Given the description of an element on the screen output the (x, y) to click on. 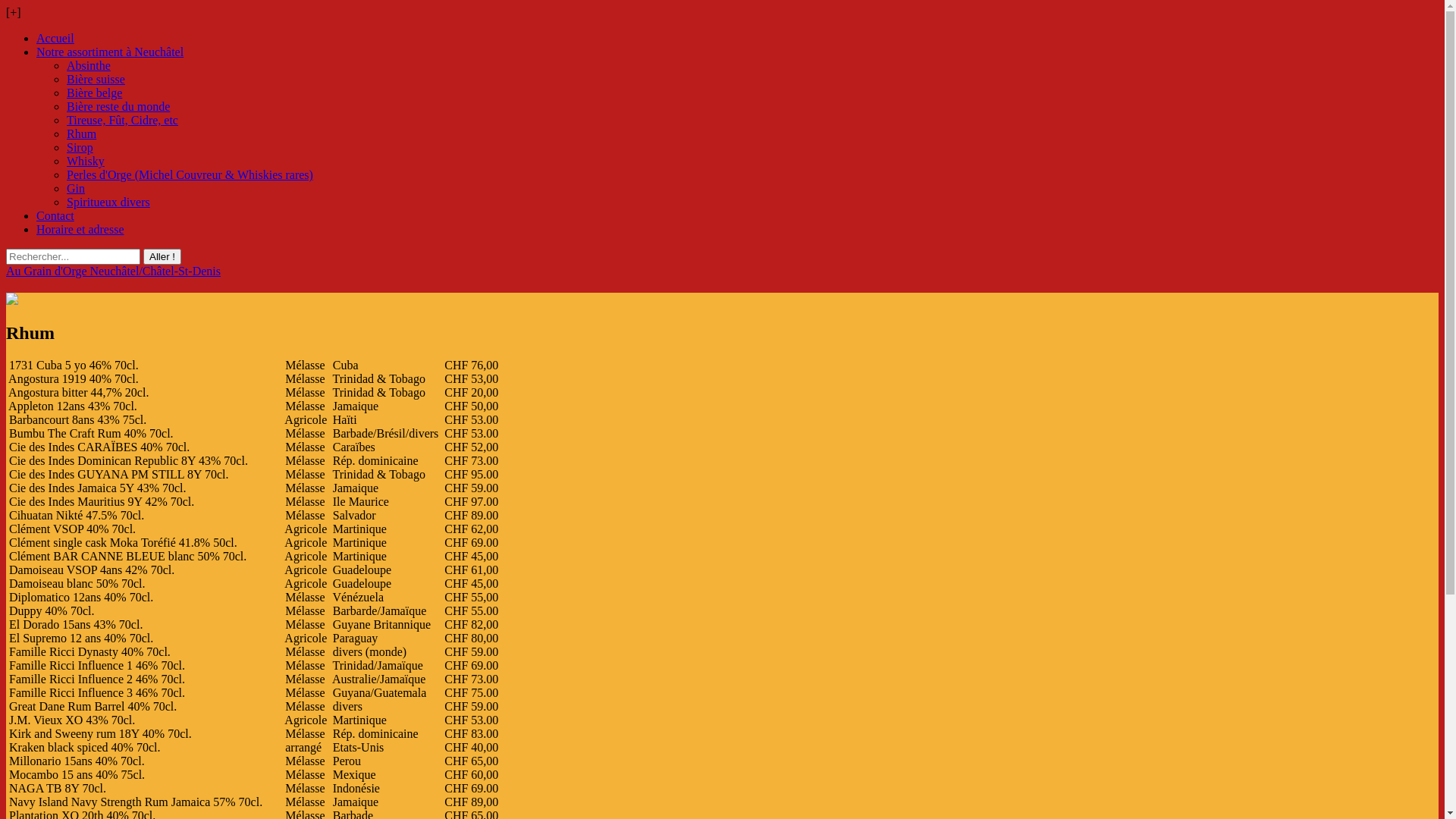
Absinthe Element type: text (88, 65)
Sirop Element type: text (79, 147)
Whisky Element type: text (85, 160)
Horaire et adresse Element type: text (80, 228)
Rhum Element type: text (81, 133)
Accueil Element type: text (55, 37)
Gin Element type: text (75, 188)
Contact Element type: text (55, 215)
Perles d'Orge (Michel Couvreur & Whiskies rares) Element type: text (189, 174)
Spiritueux divers Element type: text (108, 201)
